Given the description of an element on the screen output the (x, y) to click on. 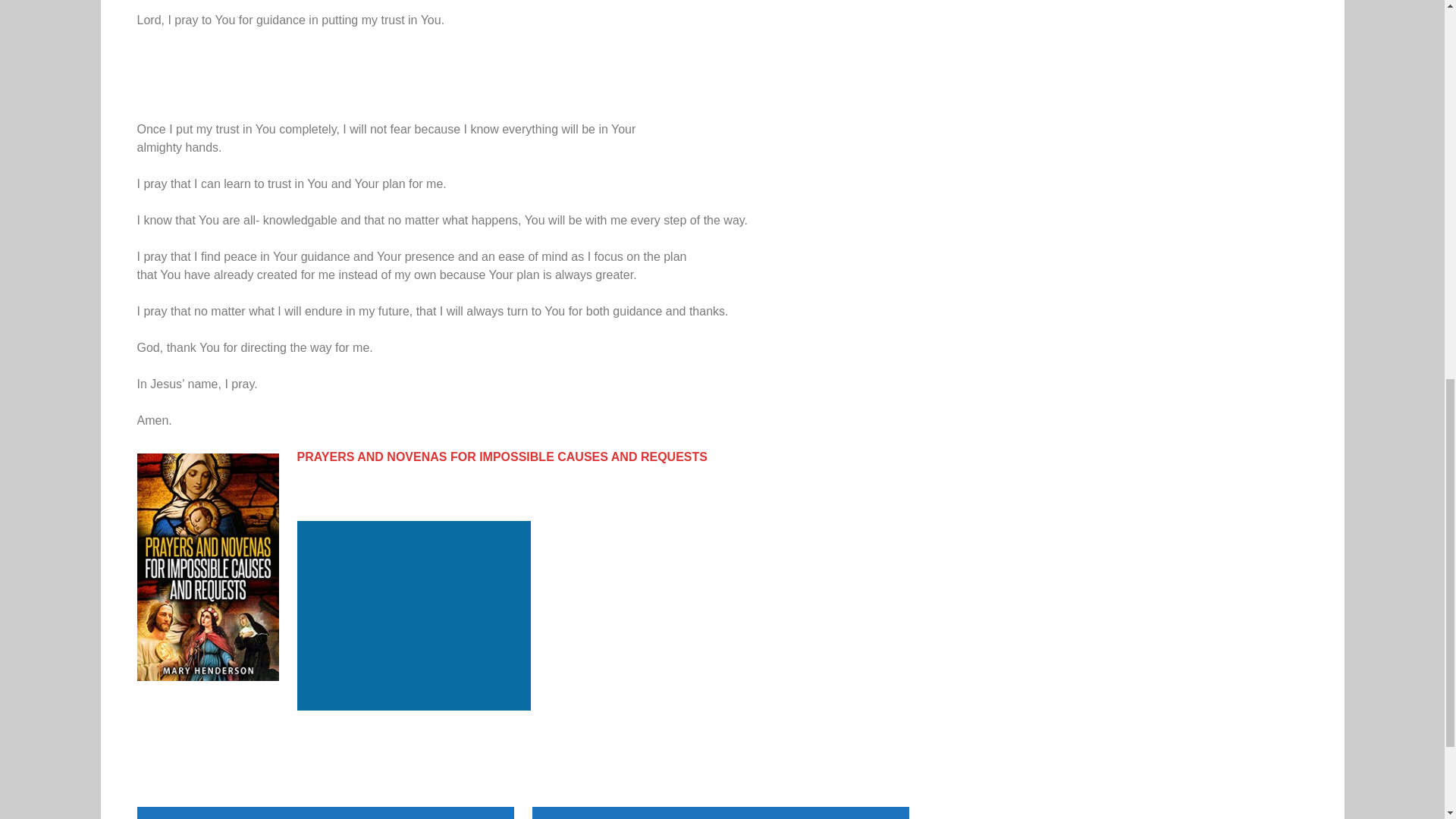
PRAYERS AND NOVENAS FOR IMPOSSIBLE CAUSES AND REQUESTS (502, 456)
